Given the description of an element on the screen output the (x, y) to click on. 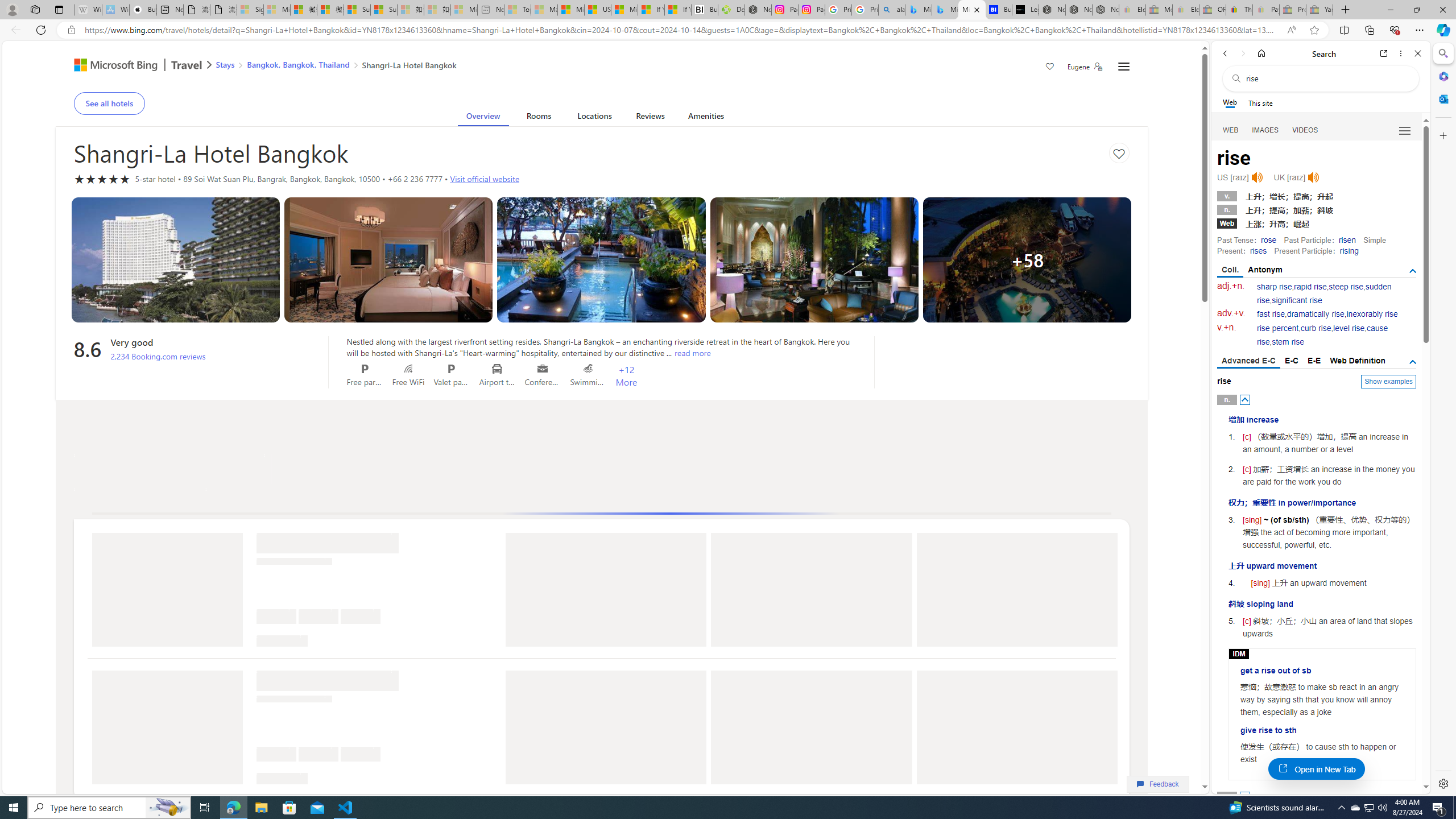
rise percent (1277, 328)
Payments Terms of Use | eBay.com - Sleeping (1265, 9)
Press Room - eBay Inc. - Sleeping (1292, 9)
Eugene (1084, 66)
AutomationID: tgdef (1412, 362)
2,234 Booking.com reviews (157, 355)
AutomationID: bread-crumb-root (329, 66)
Reviews (649, 118)
